Given the description of an element on the screen output the (x, y) to click on. 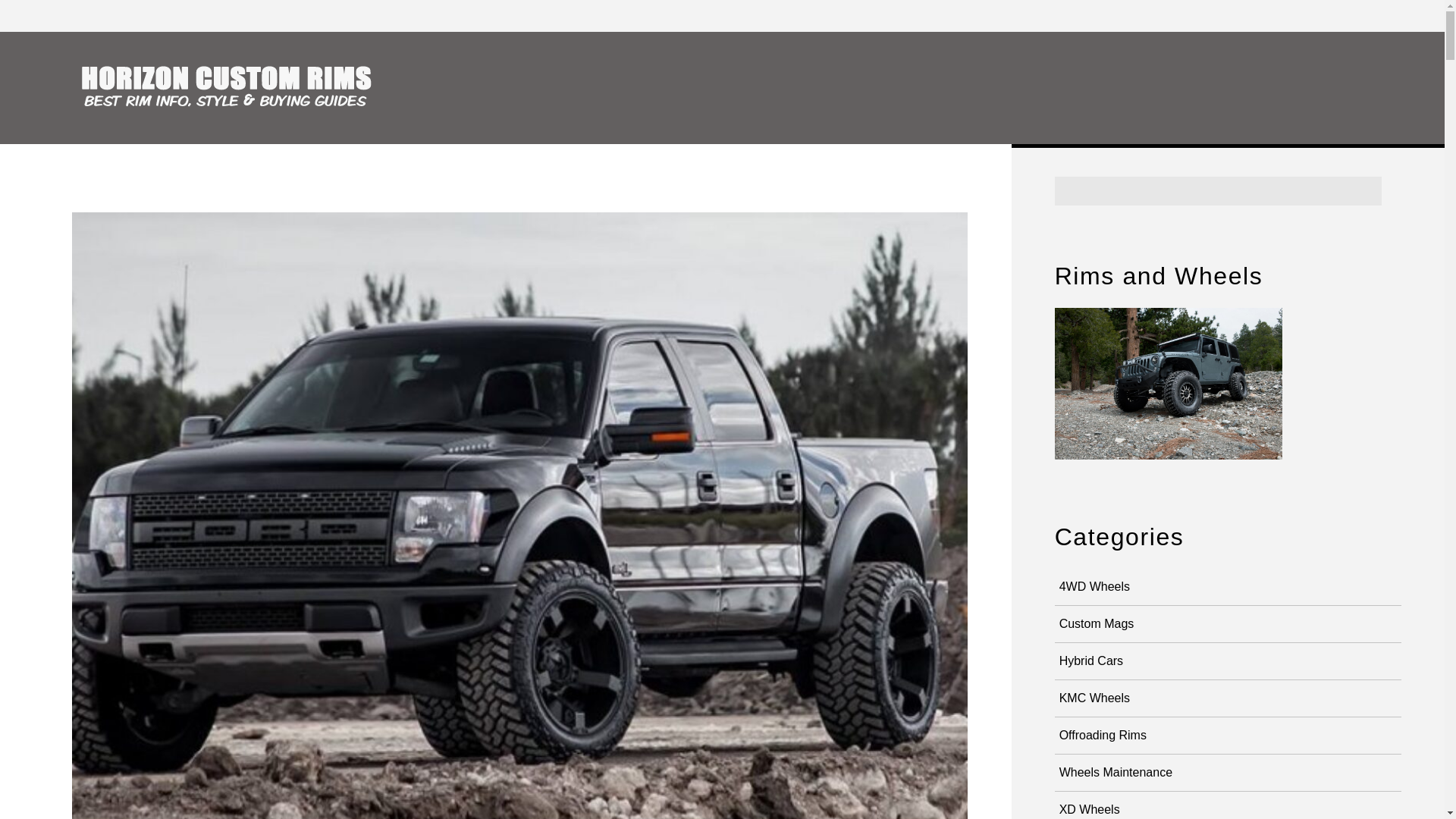
Horizon Custom Rims Element type: hover (235, 85)
Wheels Maintenance Element type: text (1115, 771)
Custom Mags Element type: text (1096, 623)
XD Wheels Element type: text (1089, 809)
4WD Wheels Element type: text (1094, 586)
Offroading Rims Element type: text (1102, 734)
Search Element type: hover (1217, 190)
KMC Wheels Element type: text (1094, 697)
Horizon Custom Rims Element type: hover (235, 103)
Hybrid Cars Element type: text (1091, 660)
